Given the description of an element on the screen output the (x, y) to click on. 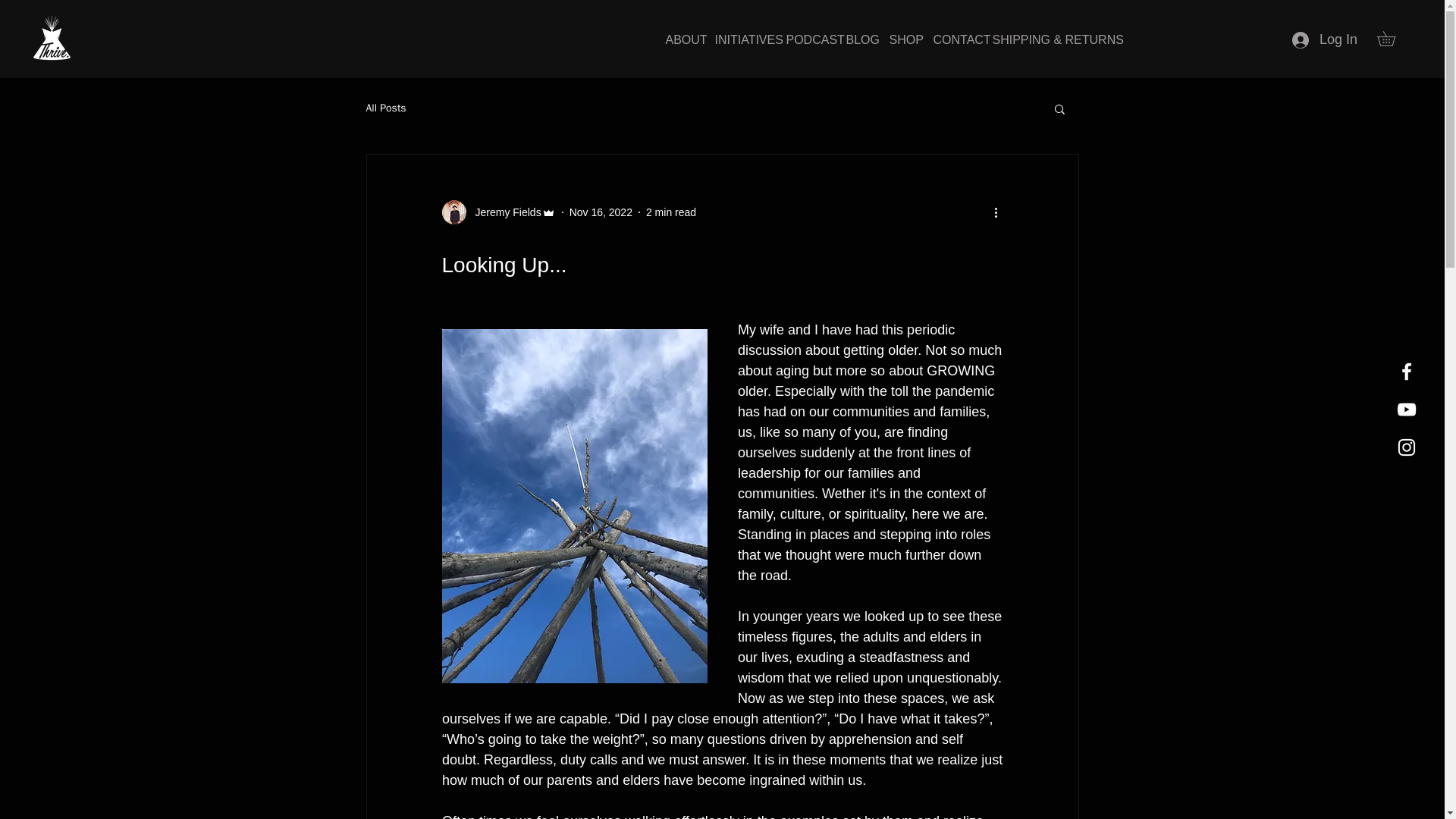
2 min read (670, 212)
Nov 16, 2022 (600, 212)
PODCAST (804, 39)
INITIATIVES (738, 39)
Jeremy Fields (497, 211)
CONTACT (951, 39)
Jeremy Fields (502, 212)
All Posts (385, 108)
Log In (1324, 39)
